Given the description of an element on the screen output the (x, y) to click on. 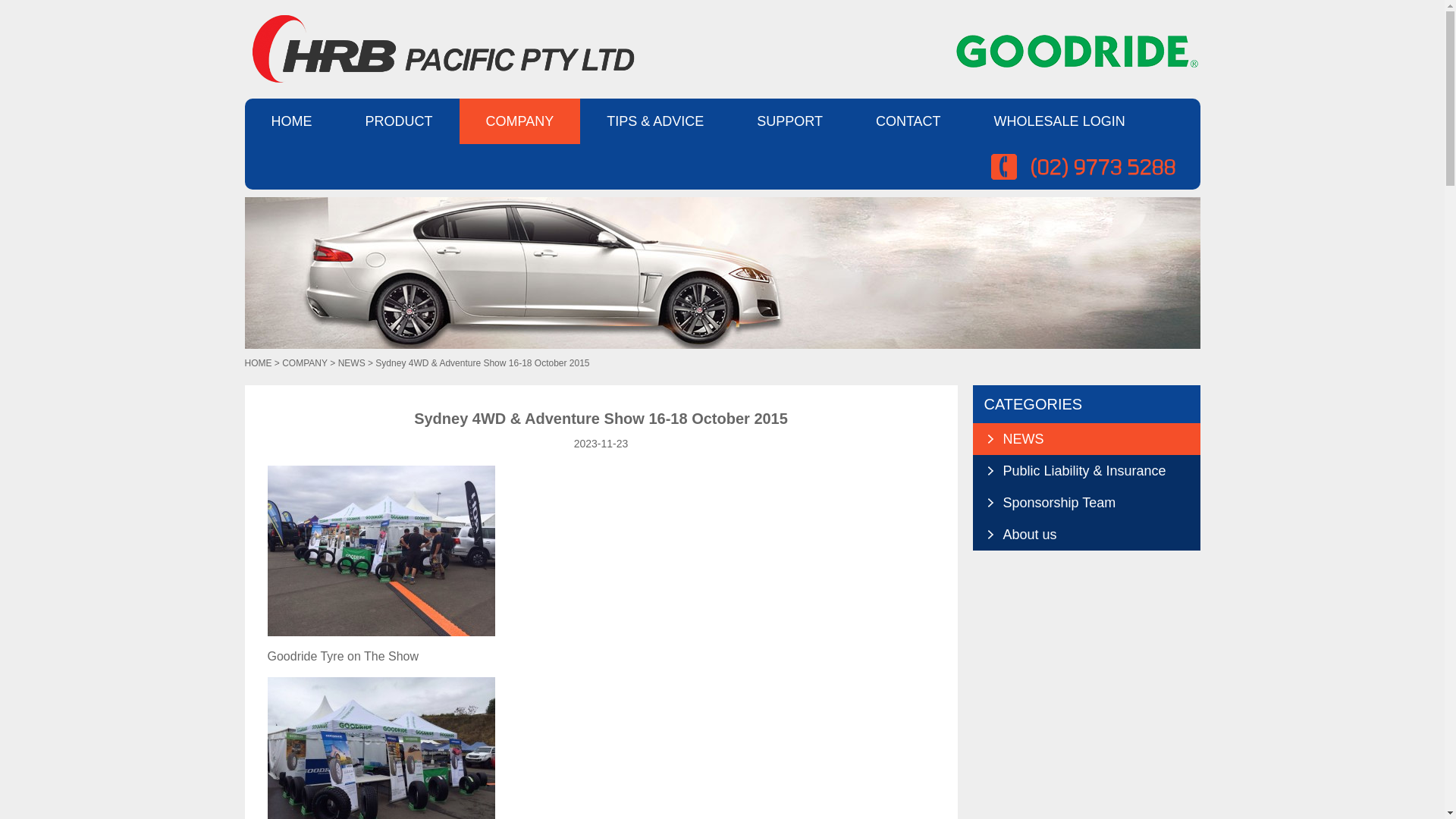
NEWS Element type: text (351, 362)
NEWS Element type: text (1085, 439)
WHOLESALE LOGIN Element type: text (1059, 121)
HOME Element type: text (291, 121)
Sponsorship Team Element type: text (1085, 502)
HOME Element type: text (257, 362)
CONTACT Element type: text (908, 121)
SUPPORT Element type: text (789, 121)
HRB PACIFIC PTY LTD Element type: text (438, 48)
About us Element type: text (1085, 534)
COMPANY Element type: text (519, 121)
COMPANY Element type: text (304, 362)
TIPS & ADVICE Element type: text (655, 121)
Public Liability & Insurance Element type: text (1085, 470)
PRODUCT Element type: text (398, 121)
